Given the description of an element on the screen output the (x, y) to click on. 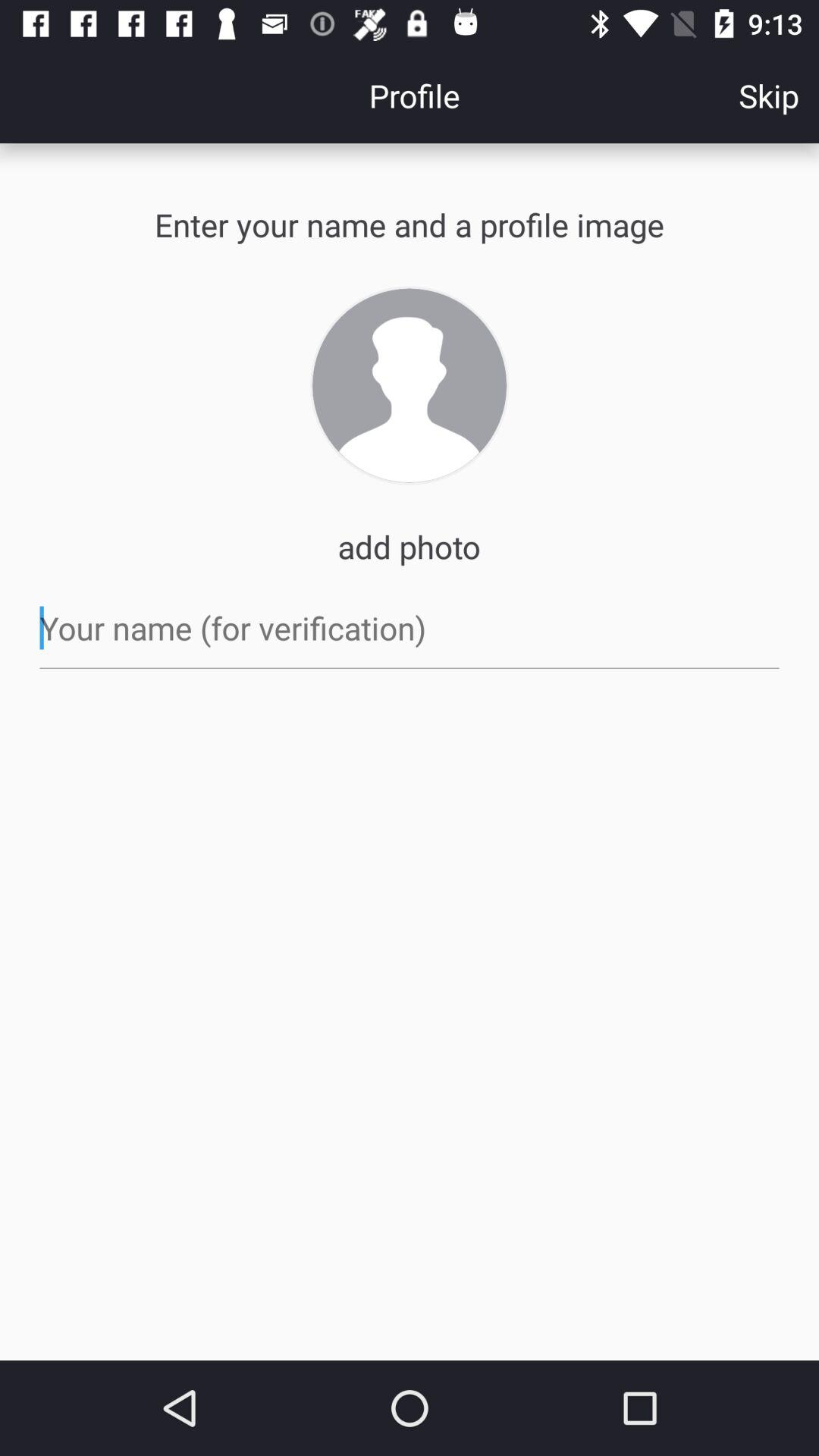
open the item below the add photo (409, 627)
